Given the description of an element on the screen output the (x, y) to click on. 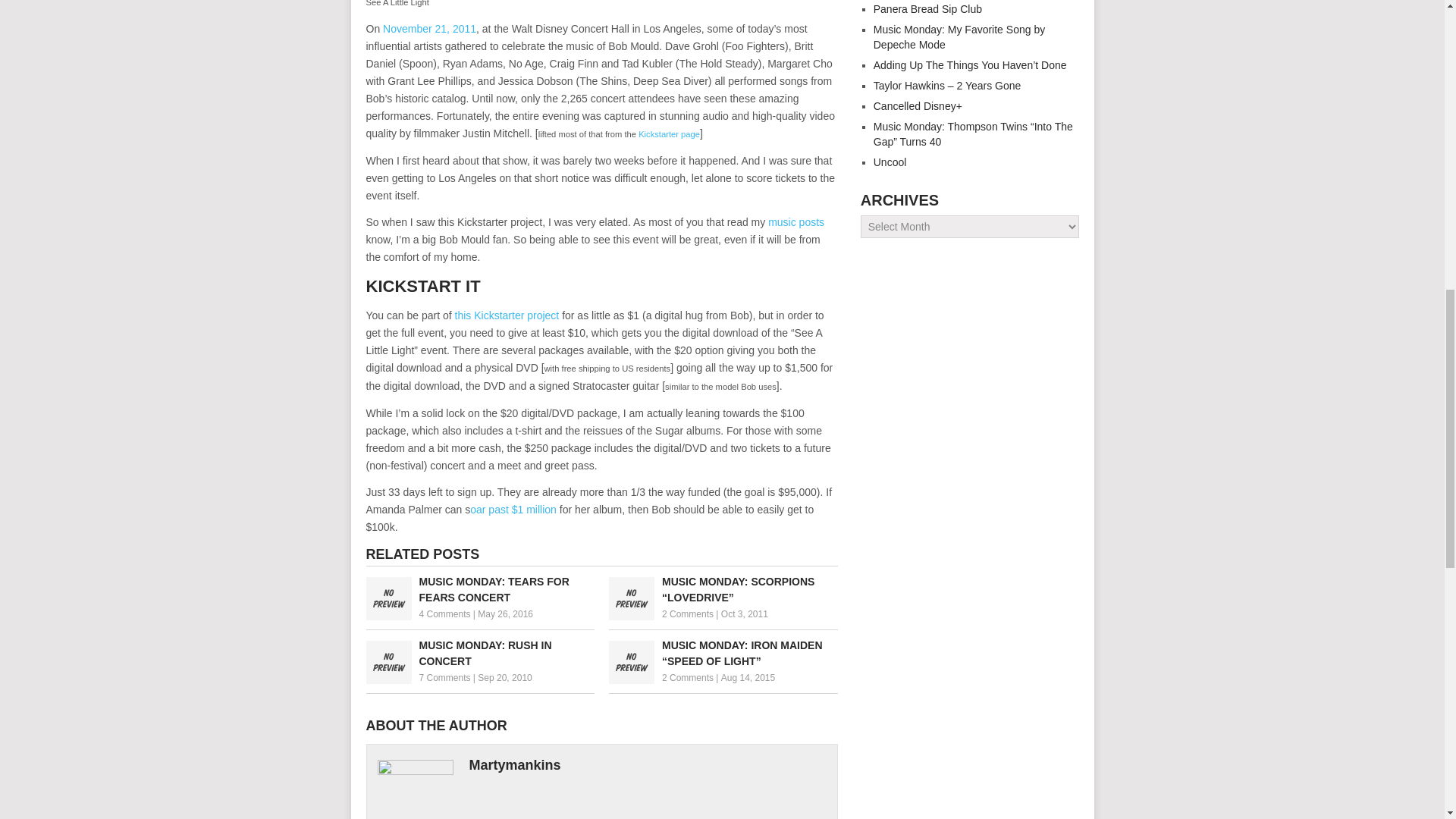
4 Comments (444, 614)
2 Comments (687, 614)
November 21, 2011 (429, 28)
Kickstarter Amanda Palmer (513, 509)
Music Monday: Rush in Concert (479, 653)
Music Monday: Tears For Fears Concert (479, 590)
2 Comments (687, 677)
this Kickstarter project (506, 315)
Bob Mould Kickstarter project (506, 315)
Panera Bread Sip Club (927, 9)
Music Monday: Bob Mould live in Portland, OR (796, 222)
Music Monday: My Favorite Song by Depeche Mode (959, 36)
Kickstarter page (669, 133)
Bob Mould Kickstarter (669, 133)
music posts (796, 222)
